Given the description of an element on the screen output the (x, y) to click on. 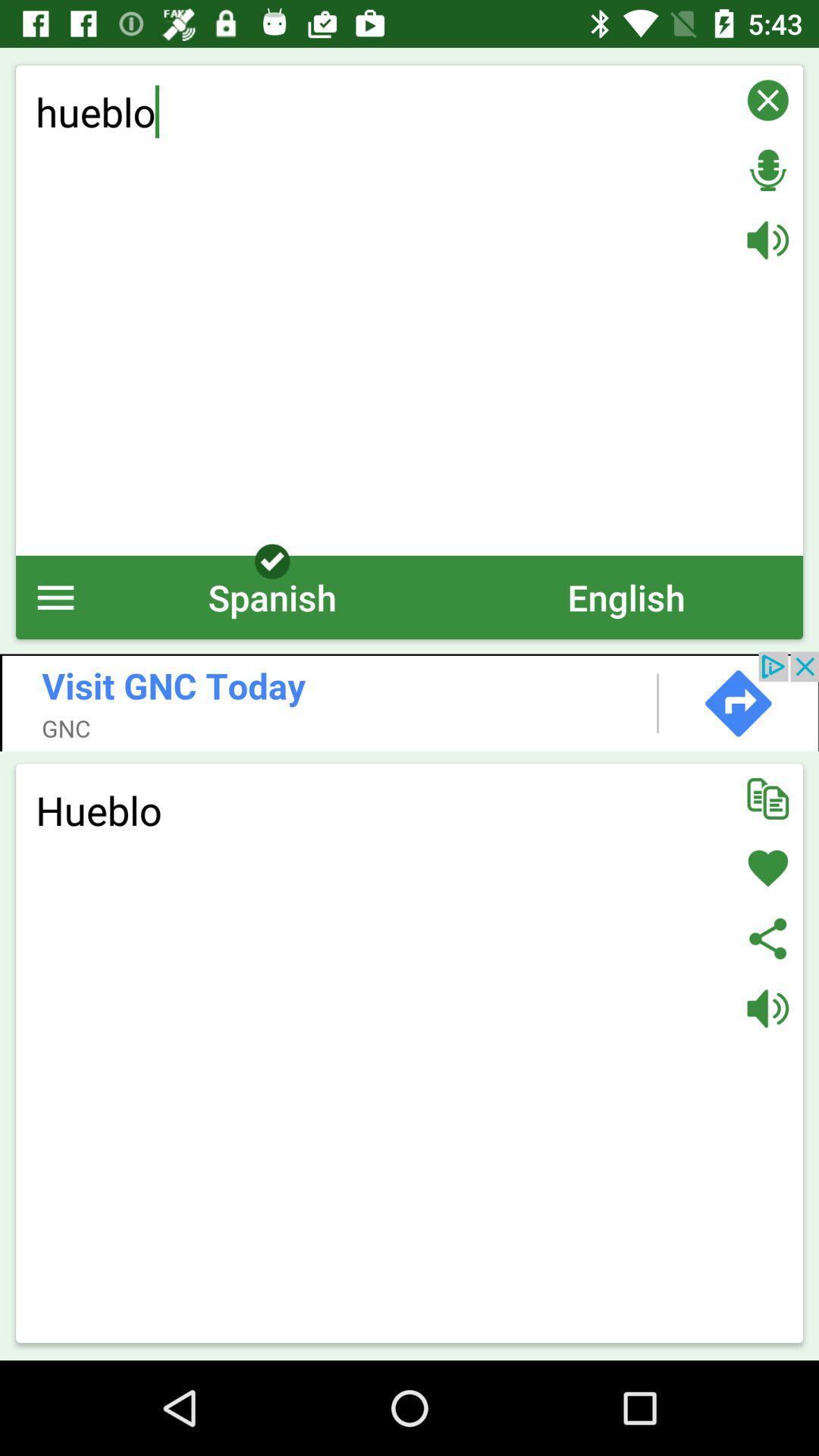
eliminate entry (768, 100)
